Given the description of an element on the screen output the (x, y) to click on. 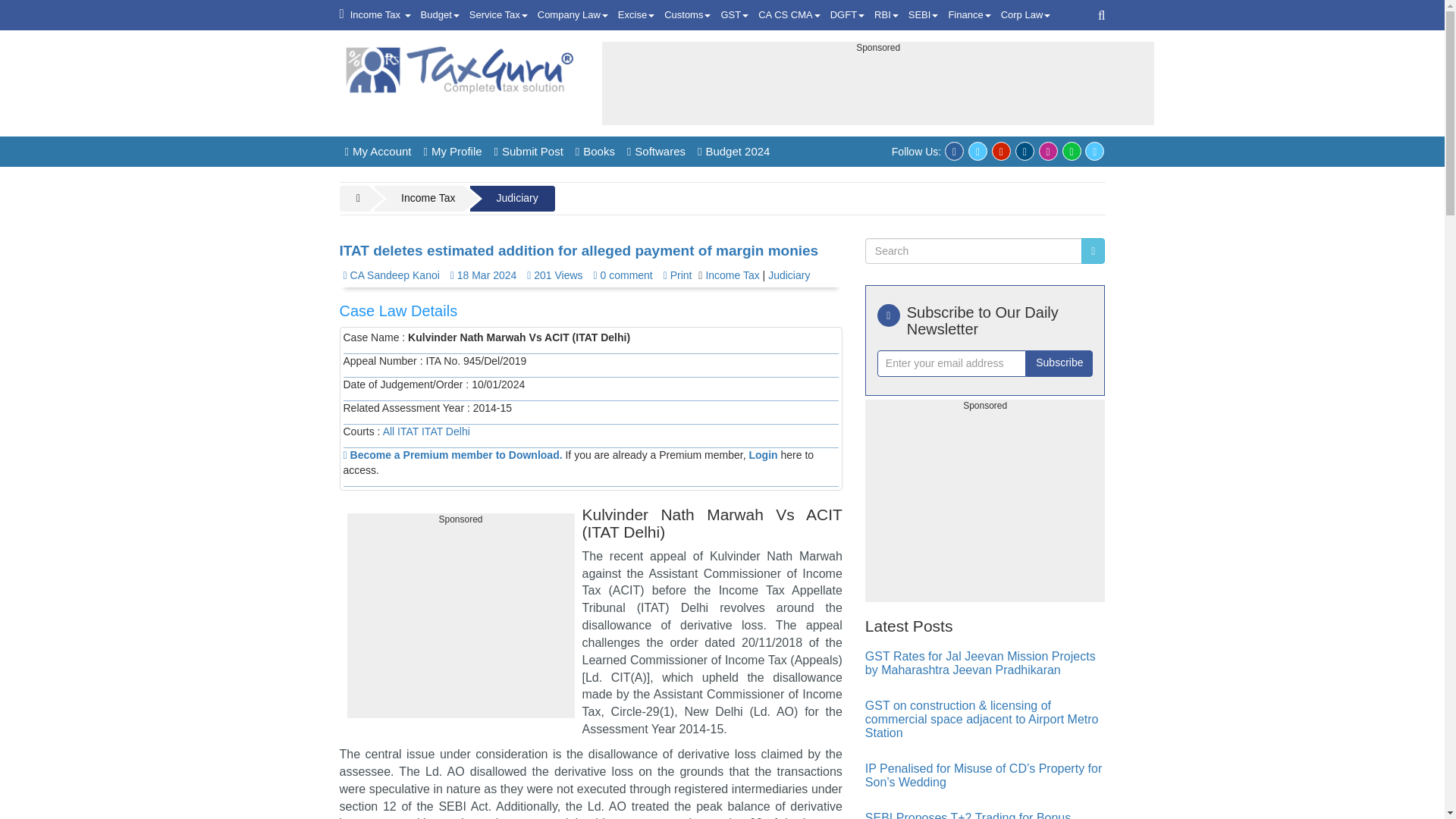
Budget (439, 15)
Company Law (572, 15)
Service Tax (498, 15)
Income Tax (380, 15)
Customs (687, 15)
Excise (636, 15)
Service Tax Article News Notifications Judgments (498, 15)
Union Budget 2024 Article News Notifications (439, 15)
Income Tax Related Information (380, 15)
